Given the description of an element on the screen output the (x, y) to click on. 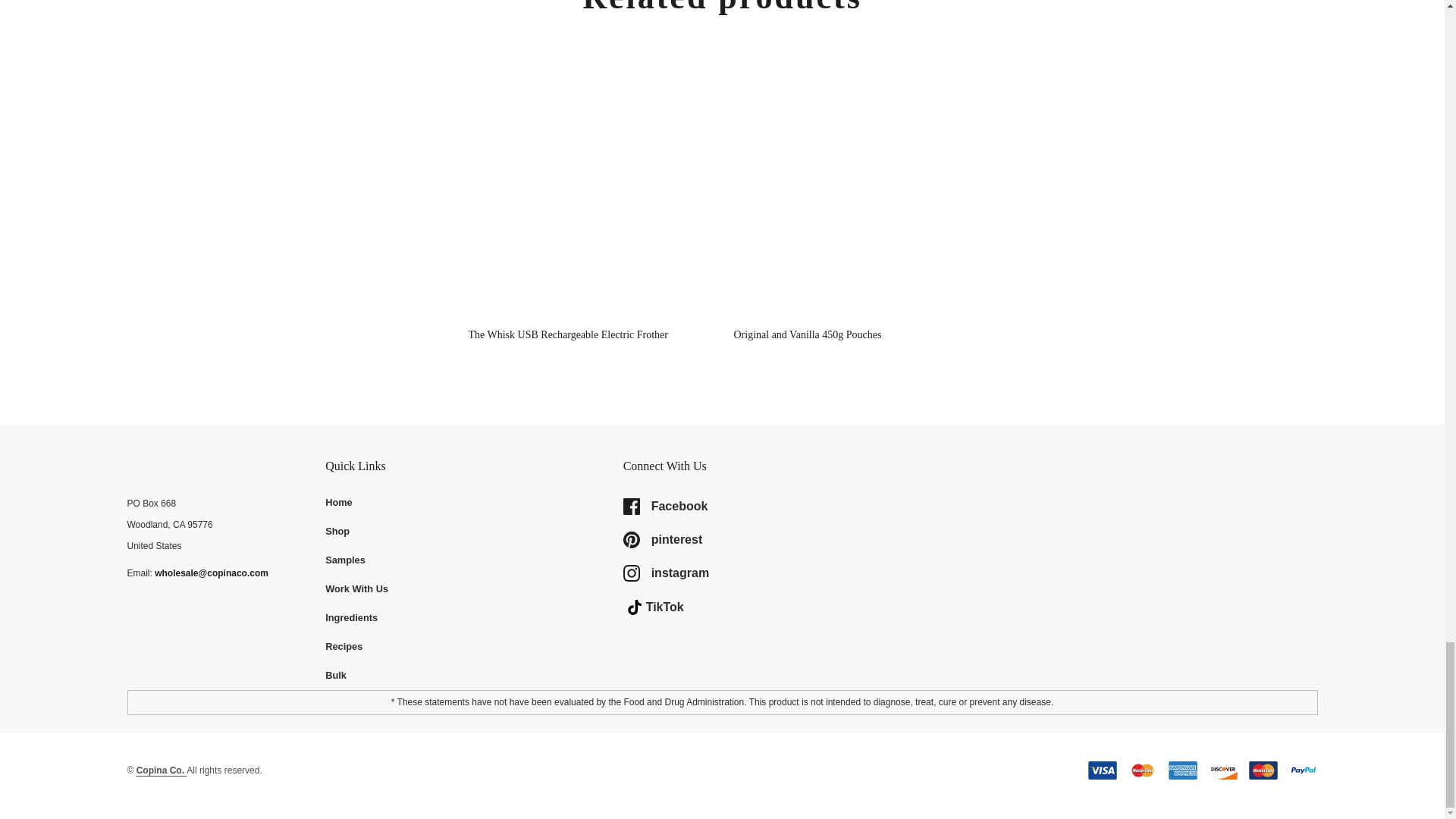
Vimeo (771, 607)
Pinterest (771, 539)
Facebook (771, 506)
Instagram (771, 572)
